Given the description of an element on the screen output the (x, y) to click on. 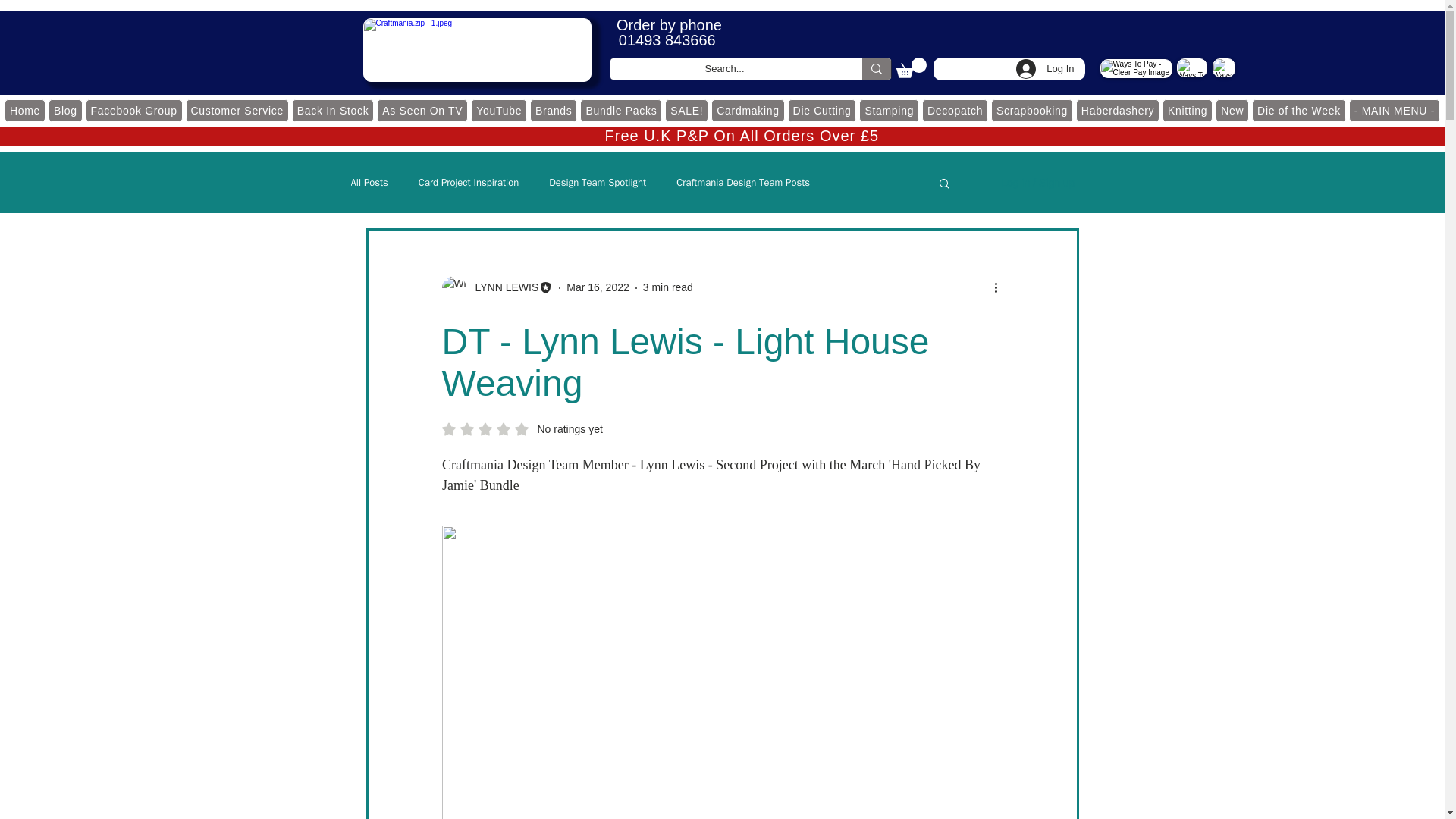
New (1232, 110)
Facebook Group (134, 110)
Haberdashery (1116, 110)
Stamping (888, 110)
Die Cutting (822, 110)
3 min read (668, 287)
Blog (65, 110)
Mar 16, 2022 (597, 287)
As Seen On TV (422, 110)
Design Team Spotlight (597, 182)
